Given the description of an element on the screen output the (x, y) to click on. 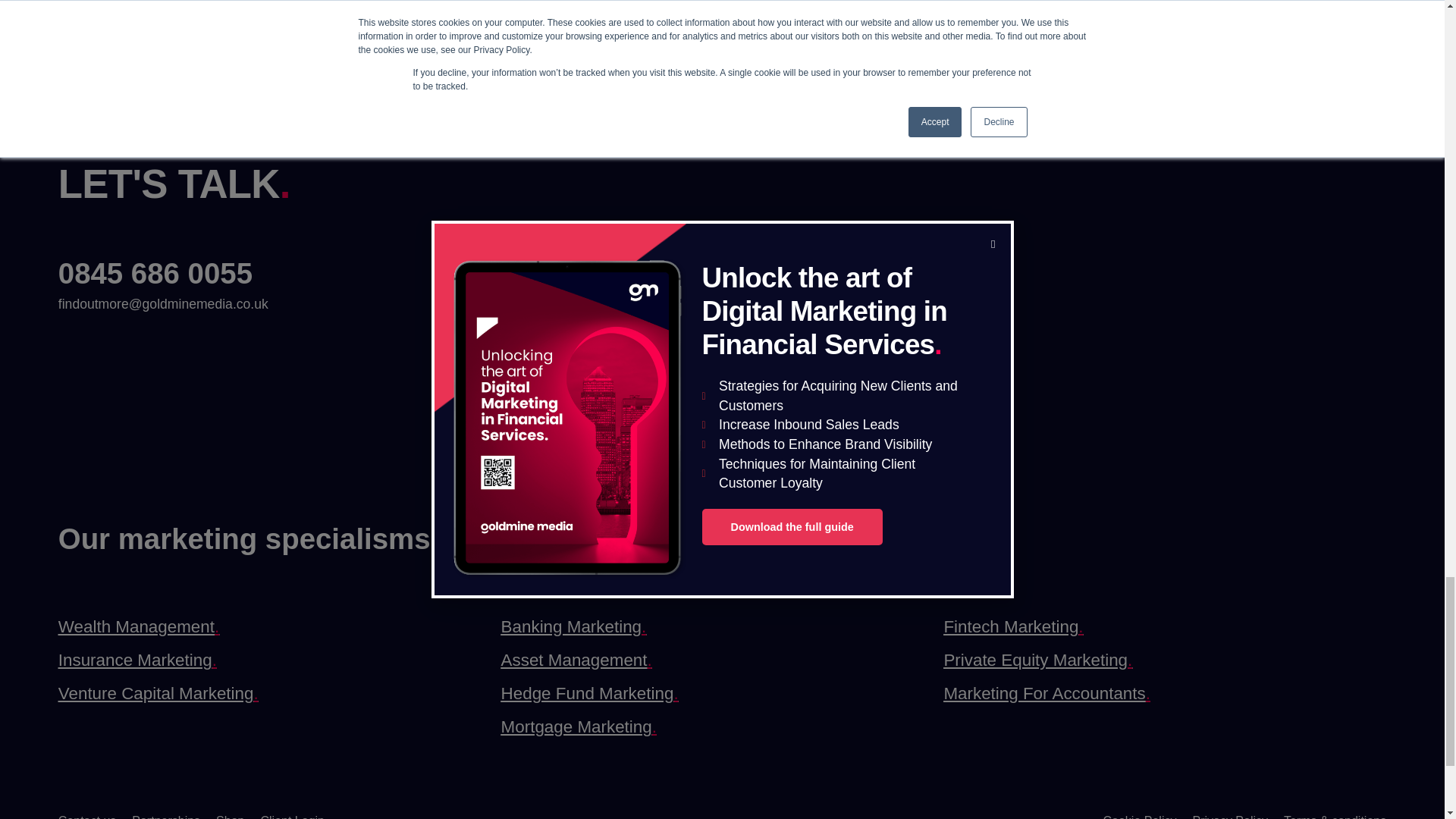
0845 686 0055 (154, 273)
